Given the description of an element on the screen output the (x, y) to click on. 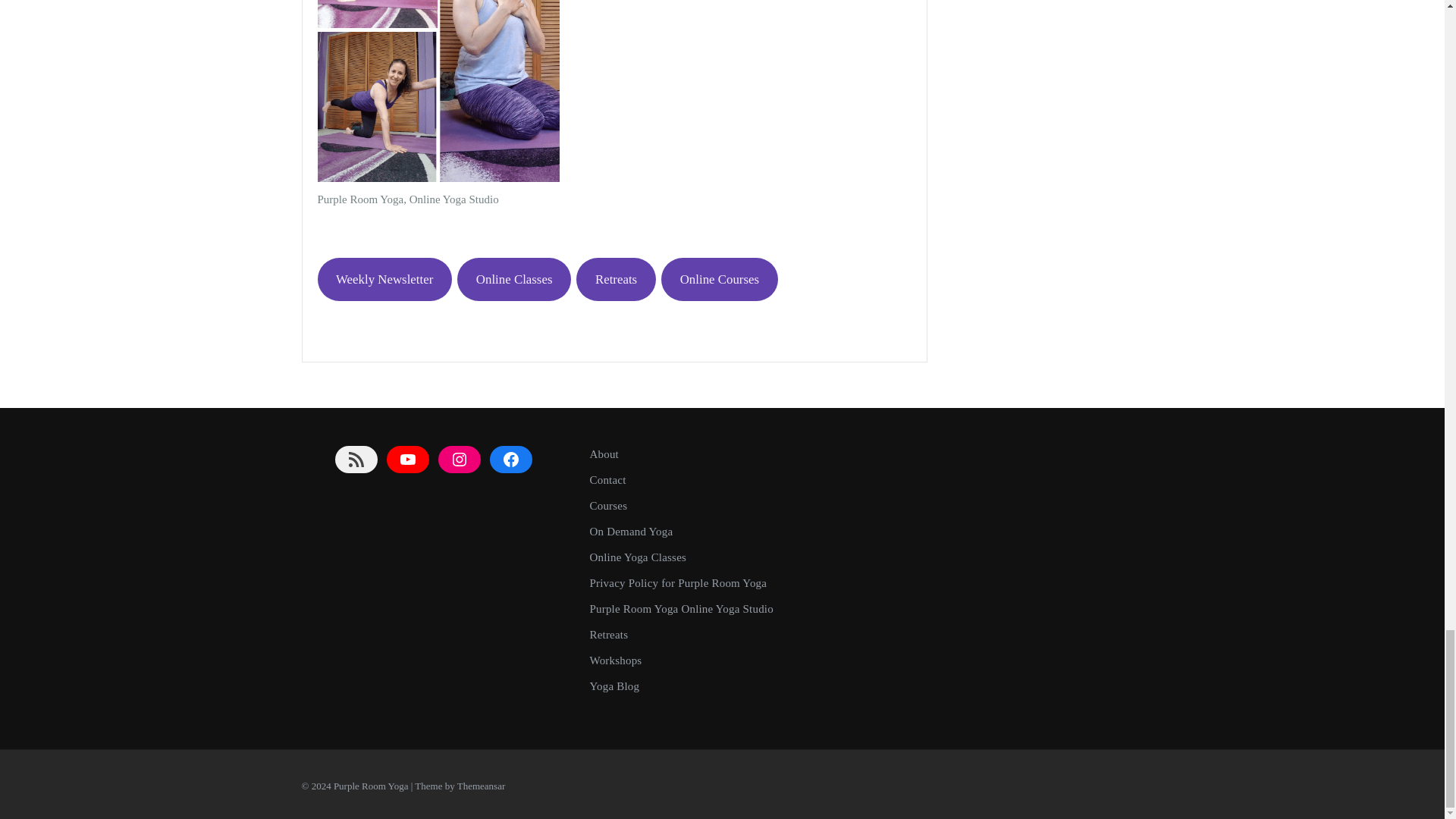
Retreats (615, 279)
Online Classes (513, 279)
Online Courses (719, 279)
Weekly Newsletter (384, 279)
